Given the description of an element on the screen output the (x, y) to click on. 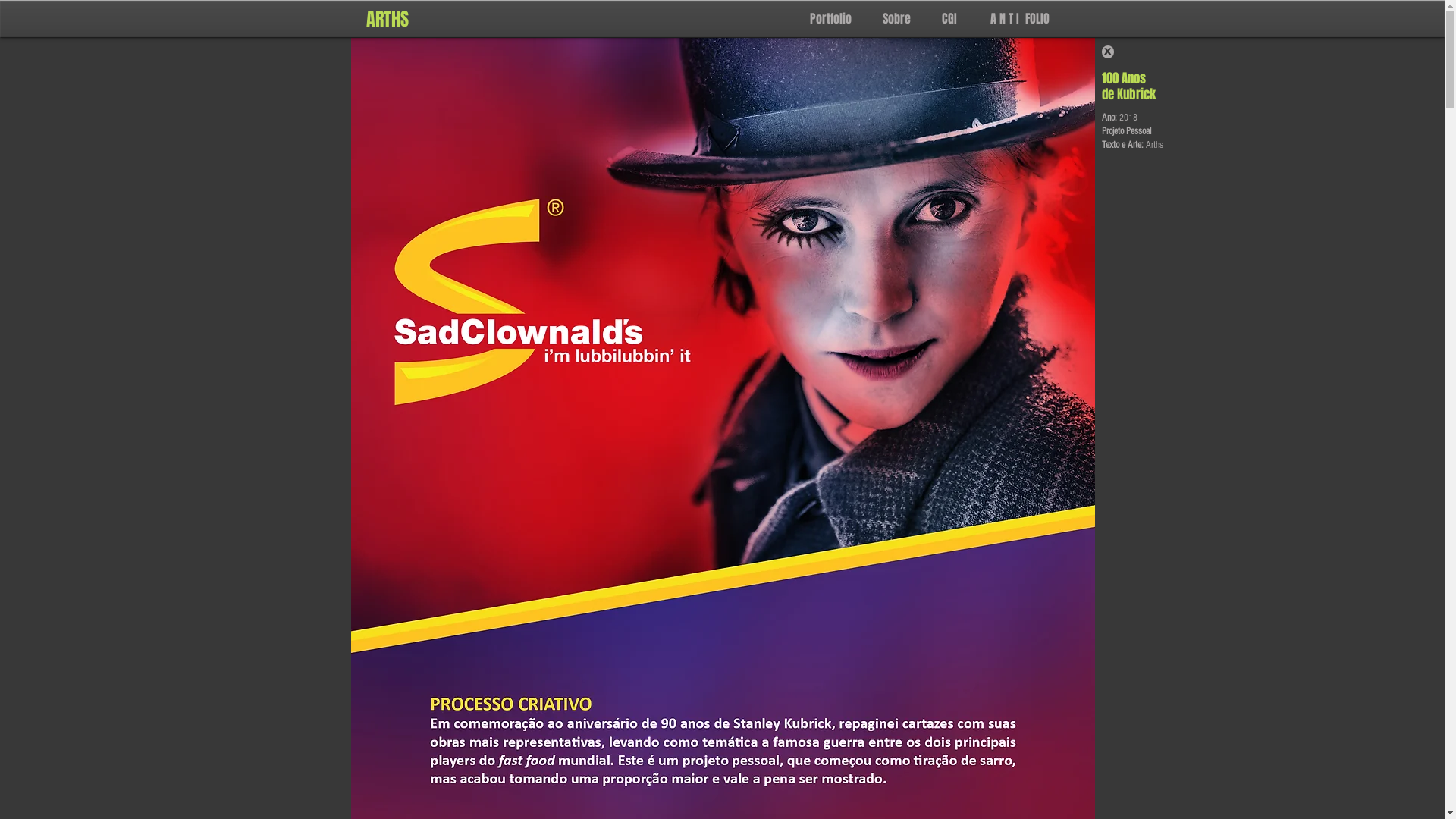
Portfolio Element type: text (826, 16)
CGI Element type: text (945, 16)
X Element type: text (1107, 51)
Sobre Element type: text (892, 16)
ARTHS Element type: text (386, 21)
